Given the description of an element on the screen output the (x, y) to click on. 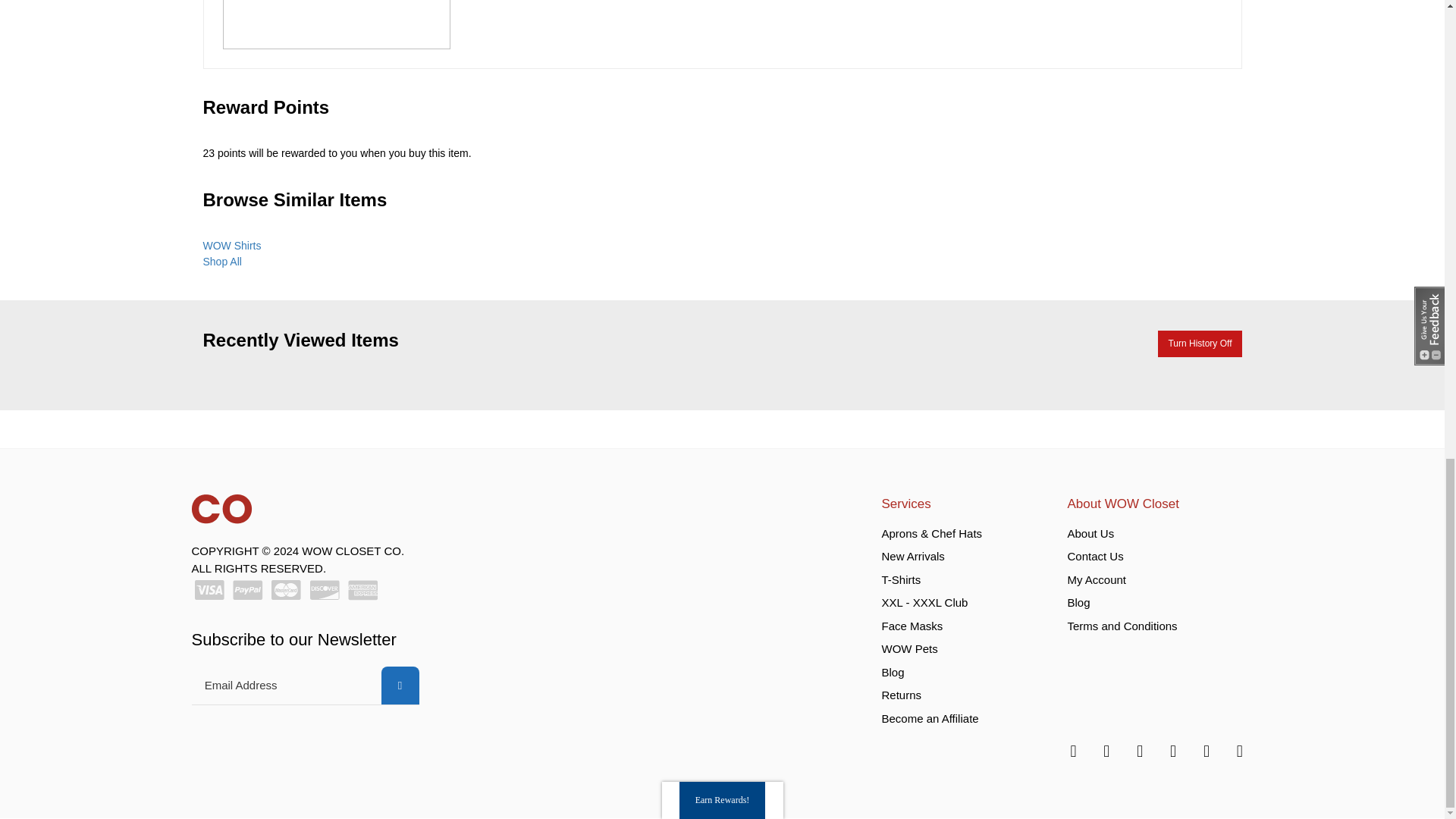
Follow Us on Instagram (1138, 750)
Follow Us on Twitter (1170, 750)
Subscribe to our Blog (1071, 750)
Subscribe to our Channel (1204, 750)
Follow Us on Pinterest (1237, 750)
Like Us on Facebook (1104, 750)
